Given the description of an element on the screen output the (x, y) to click on. 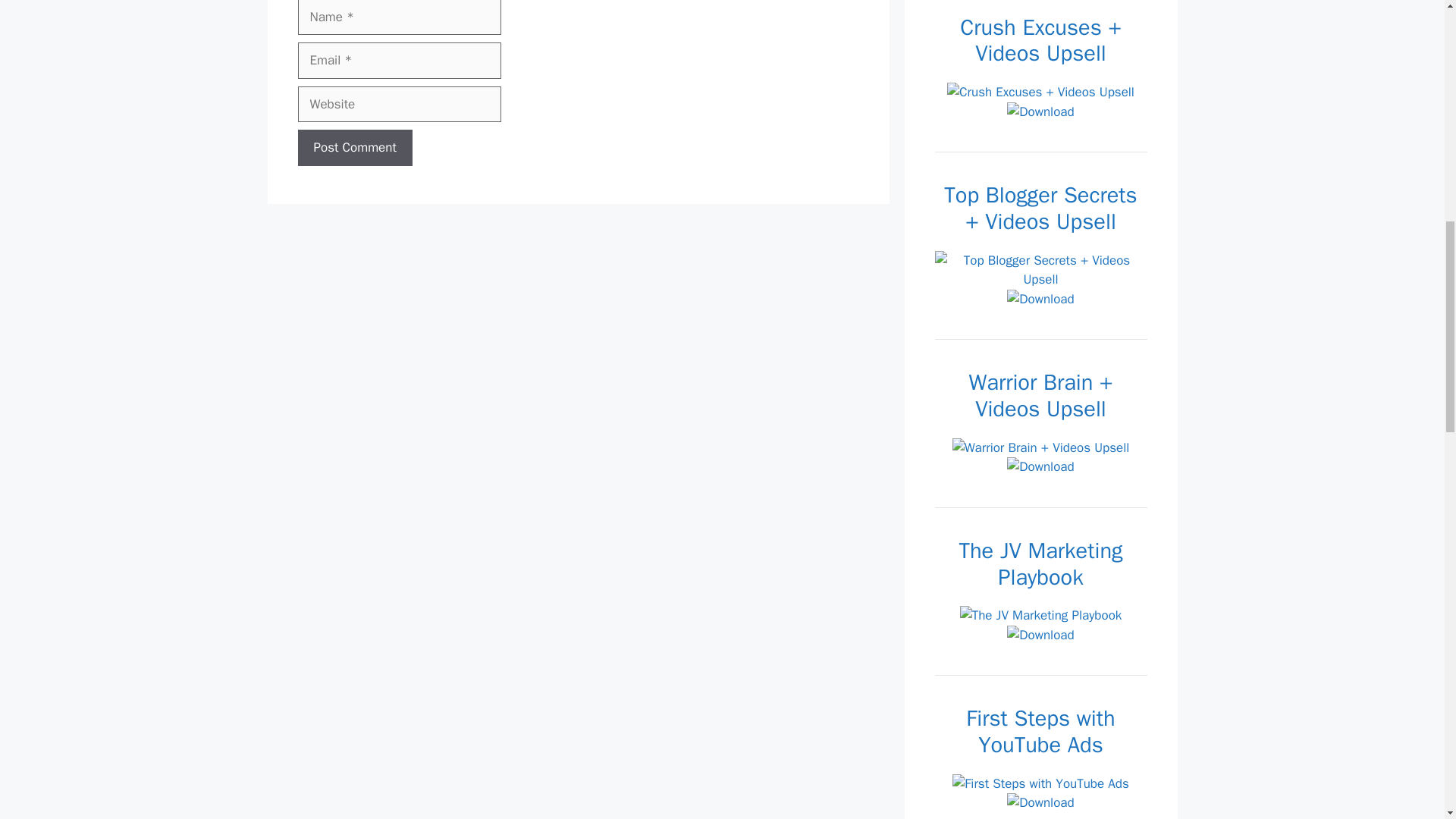
Post Comment (354, 147)
First Steps with YouTube Ads (1040, 783)
Post Comment (354, 147)
The JV Marketing Playbook (1040, 615)
